Given the description of an element on the screen output the (x, y) to click on. 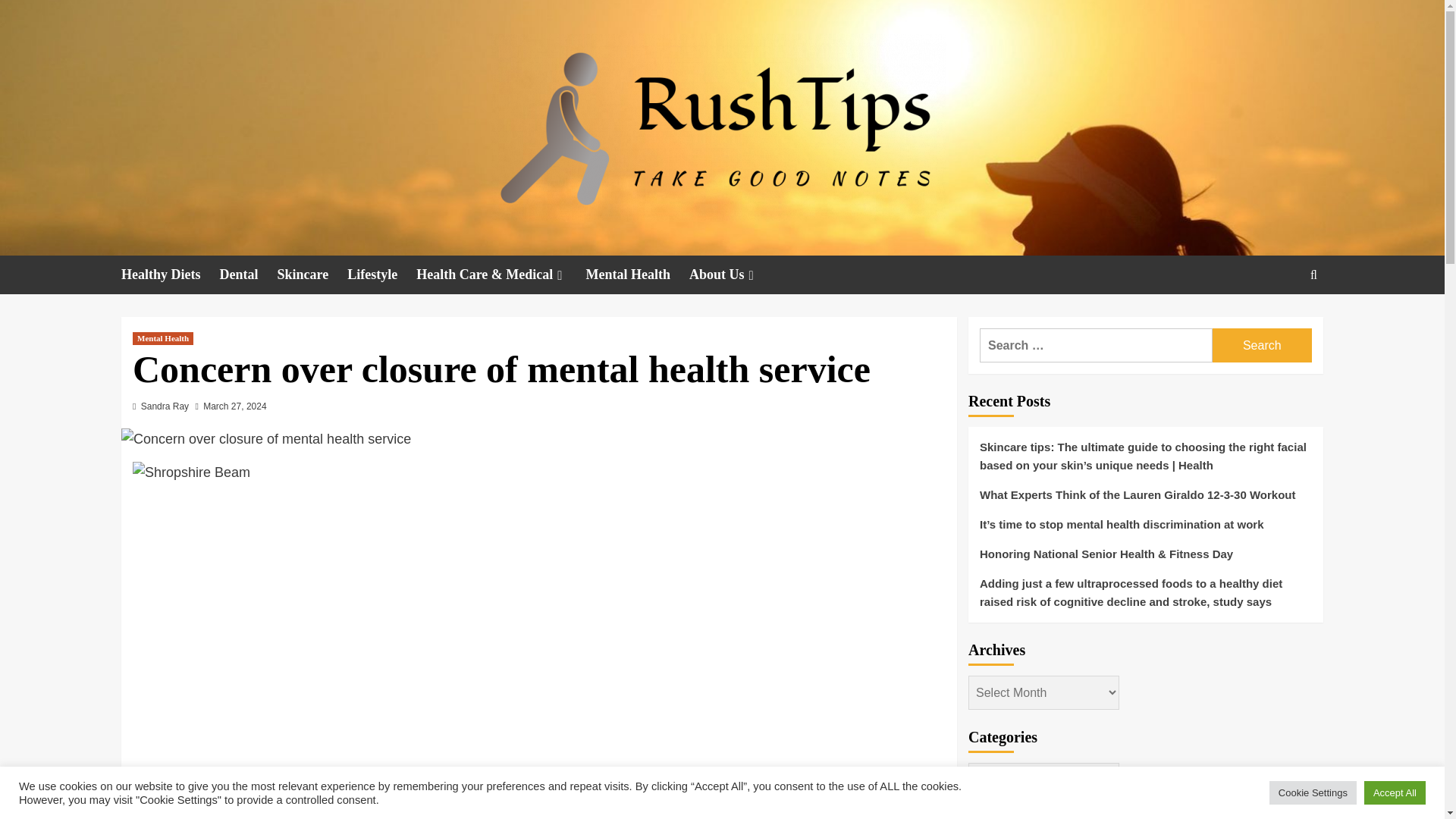
Sandra Ray (165, 406)
Search (1261, 345)
Concern over closure of mental health service (265, 439)
Mental Health (162, 338)
About Us (732, 274)
Healthy Diets (169, 274)
Lifestyle (381, 274)
Dental (247, 274)
Search (1278, 321)
March 27, 2024 (234, 406)
